Given the description of an element on the screen output the (x, y) to click on. 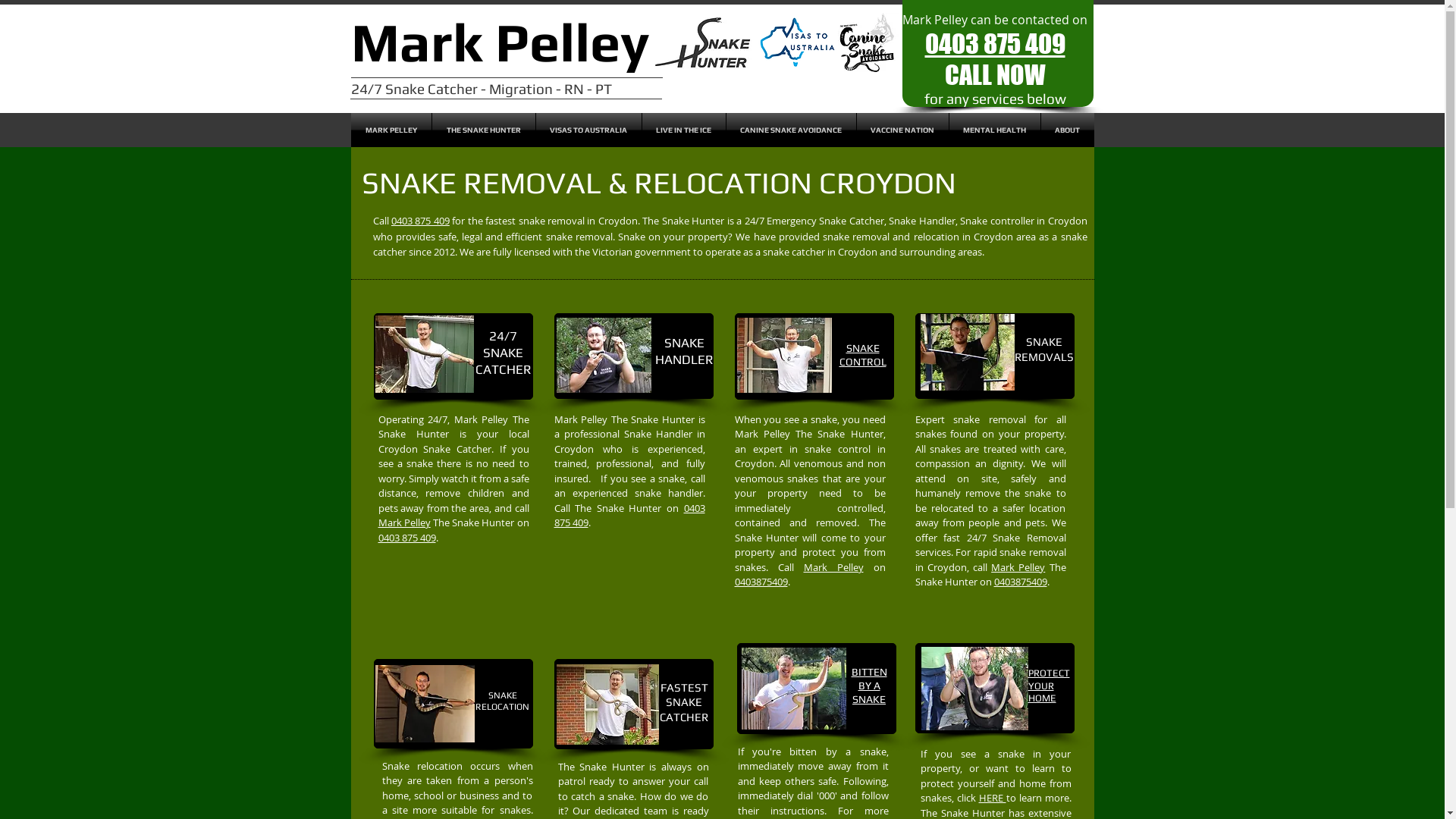
0403 875 409 Element type: text (628, 515)
SNAKE CONTROL Element type: text (861, 354)
Mark Pelley Element type: text (499, 41)
PROTECT YOUR HOME Element type: text (1049, 685)
CANINE SNAKE AVOIDANCE Element type: text (791, 129)
THE SNAKE HUNTER Element type: text (483, 129)
VISAS TO AUSTRALIA Element type: text (587, 129)
0403 875 409 Element type: text (995, 43)
LIVE IN THE ICE Element type: text (682, 129)
VACCINE NATION Element type: text (902, 129)
0403 875 409 Element type: text (420, 220)
MARK PELLEY Element type: text (390, 129)
BITTEN BY A SNAKE Element type: text (868, 685)
0403875409 Element type: text (760, 581)
24/7 Snake Catcher - Migration - RN - PT Element type: text (480, 88)
0403875409 Element type: text (1019, 581)
HERE Element type: text (991, 797)
Mark Pelley Element type: text (833, 567)
MENTAL HEALTH Element type: text (994, 129)
Mark Pelley Element type: text (1017, 567)
0403 875 409 Element type: text (406, 537)
ABOUT Element type: text (1066, 129)
Mark Pelley Element type: text (403, 522)
